Given the description of an element on the screen output the (x, y) to click on. 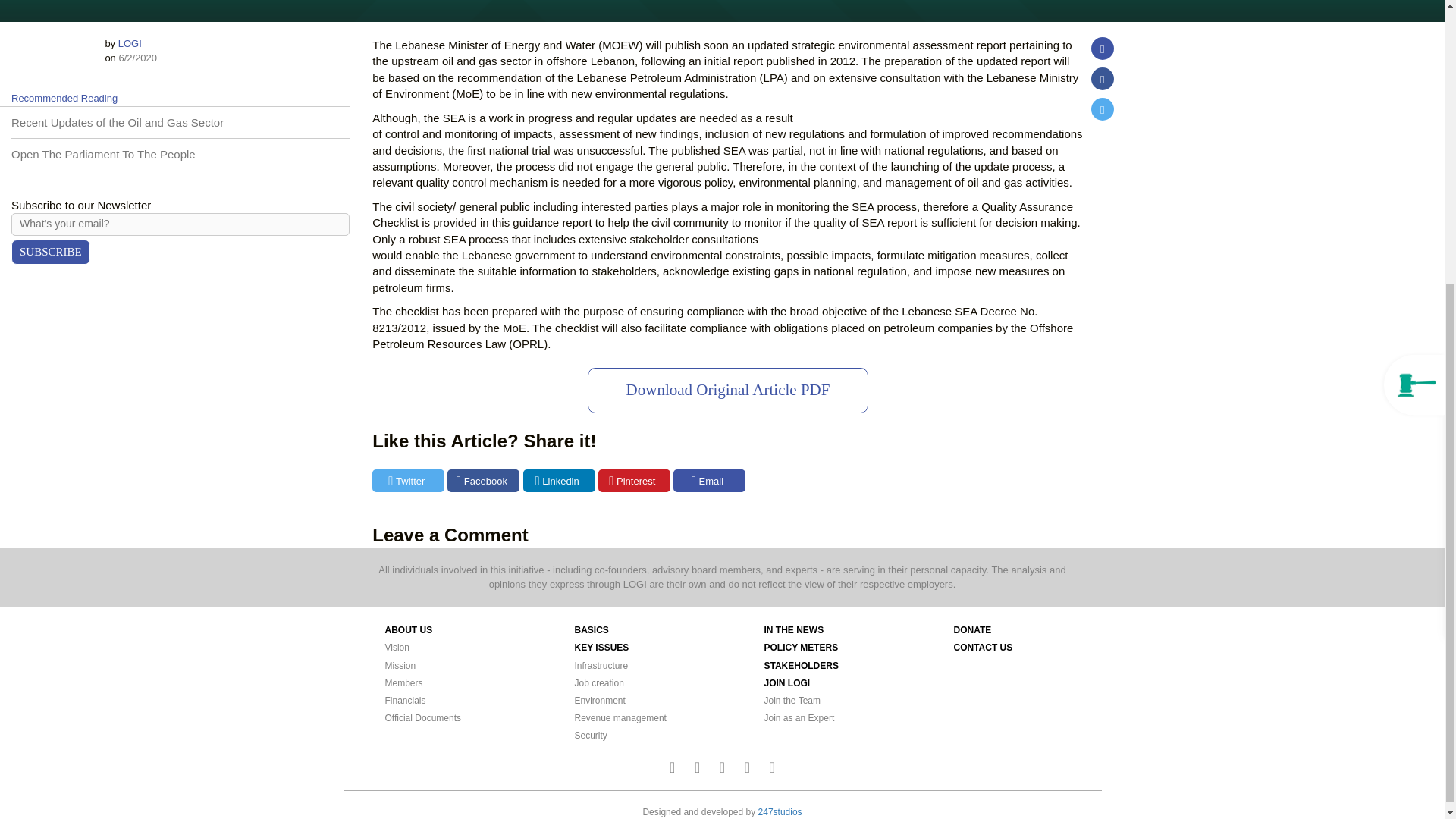
SUBSCRIBE (50, 251)
Recent Updates of the Oil and Gas Sector (117, 122)
Linkedin (558, 480)
Open The Parliament To The People (103, 154)
LOGI (129, 43)
Download Original Article PDF (728, 390)
Email (708, 480)
Facebook (482, 480)
Pinterest (633, 480)
Twitter (408, 480)
SUBSCRIBE (50, 251)
